Given the description of an element on the screen output the (x, y) to click on. 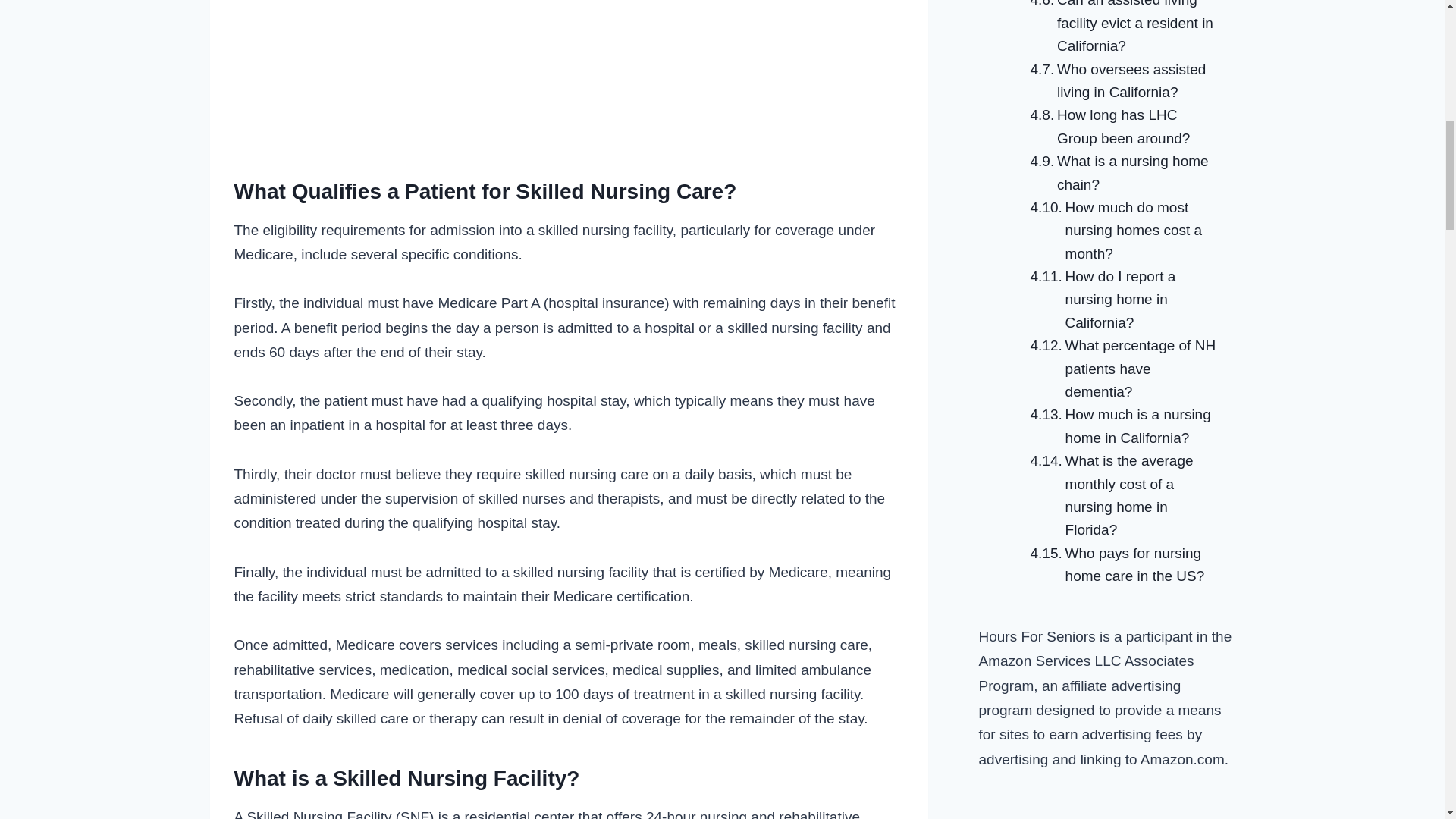
How long has LHC Group been around? (1121, 126)
How much is a nursing home in California? (1121, 426)
How do I report a nursing home in California? (1121, 299)
Who oversees assisted living in California? (1121, 81)
What is a nursing home chain? (1121, 172)
How much do most nursing homes cost a month? (1121, 230)
Who pays for nursing home care in the US? (1121, 565)
What percentage of NH patients have dementia? (1121, 368)
